Given the description of an element on the screen output the (x, y) to click on. 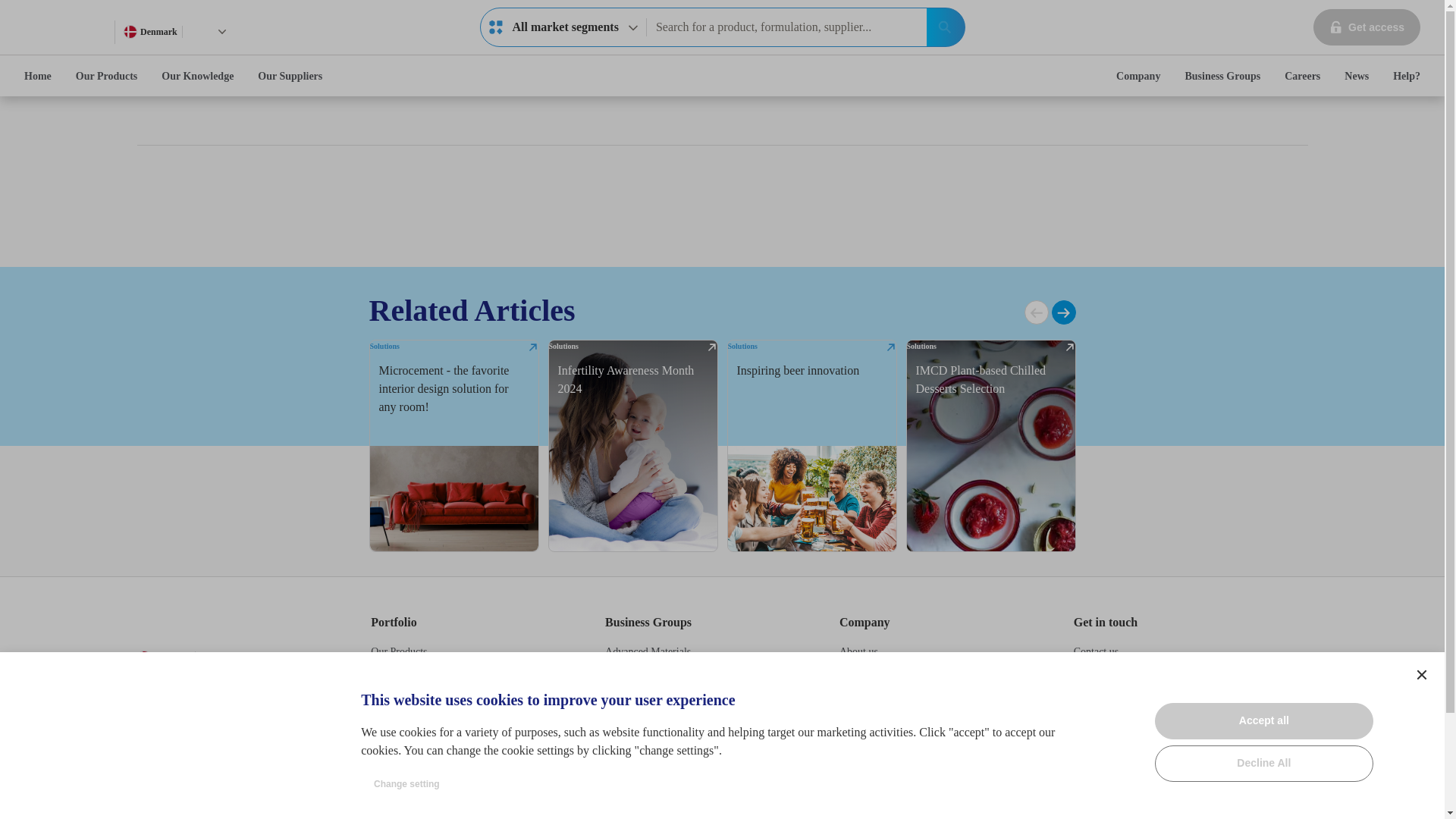
Change setting (406, 784)
Get access (563, 27)
Settings (1367, 27)
Help? (1421, 675)
Our Products (1406, 76)
Search (106, 76)
Denmark (944, 27)
previous (163, 657)
Open Dropdown (1035, 312)
Business Groups (221, 31)
Company (1222, 76)
Open Dropdown (1137, 76)
Careers (235, 656)
Denmark (1302, 76)
